Given the description of an element on the screen output the (x, y) to click on. 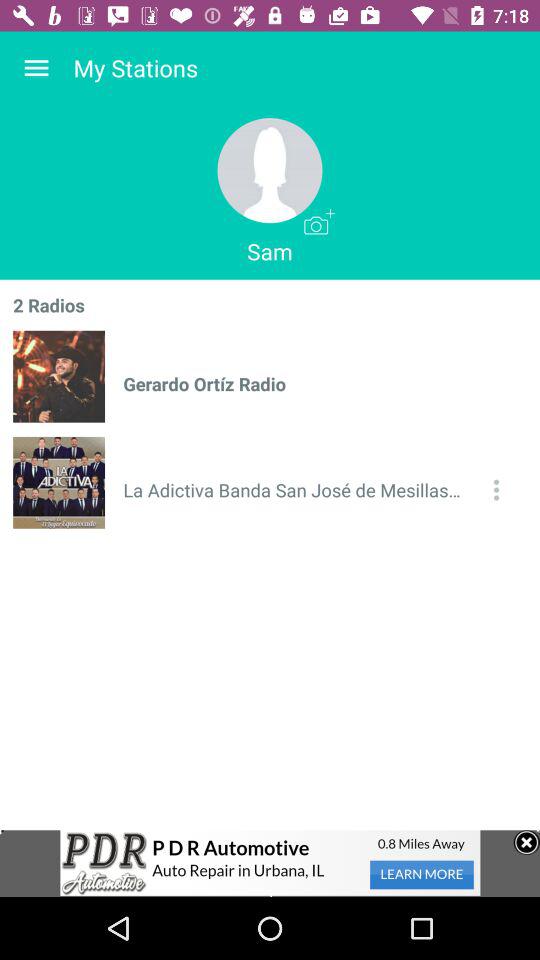
press the icon next to the my stations item (36, 68)
